Given the description of an element on the screen output the (x, y) to click on. 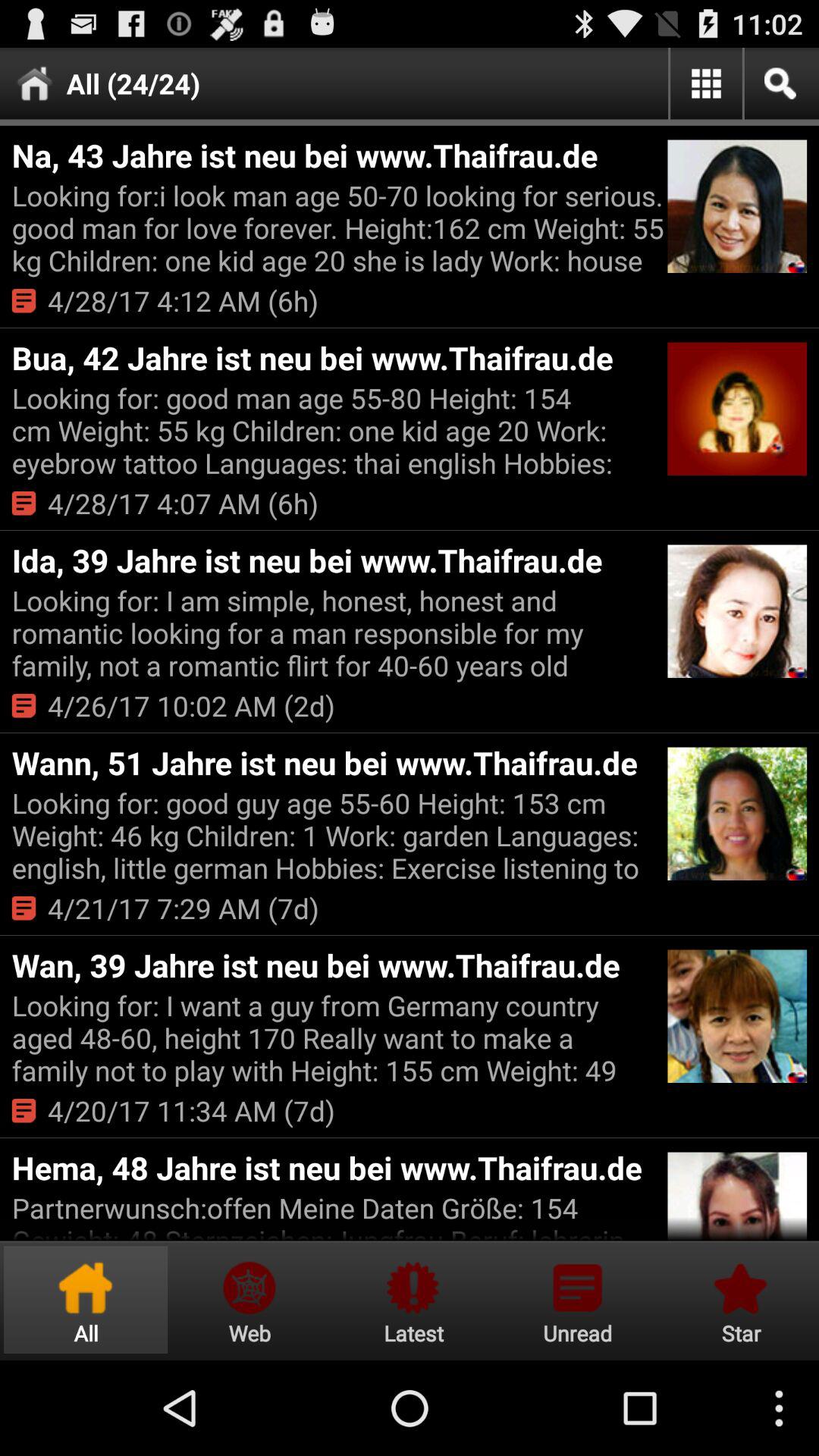
flip to wann 51 jahre item (337, 762)
